Given the description of an element on the screen output the (x, y) to click on. 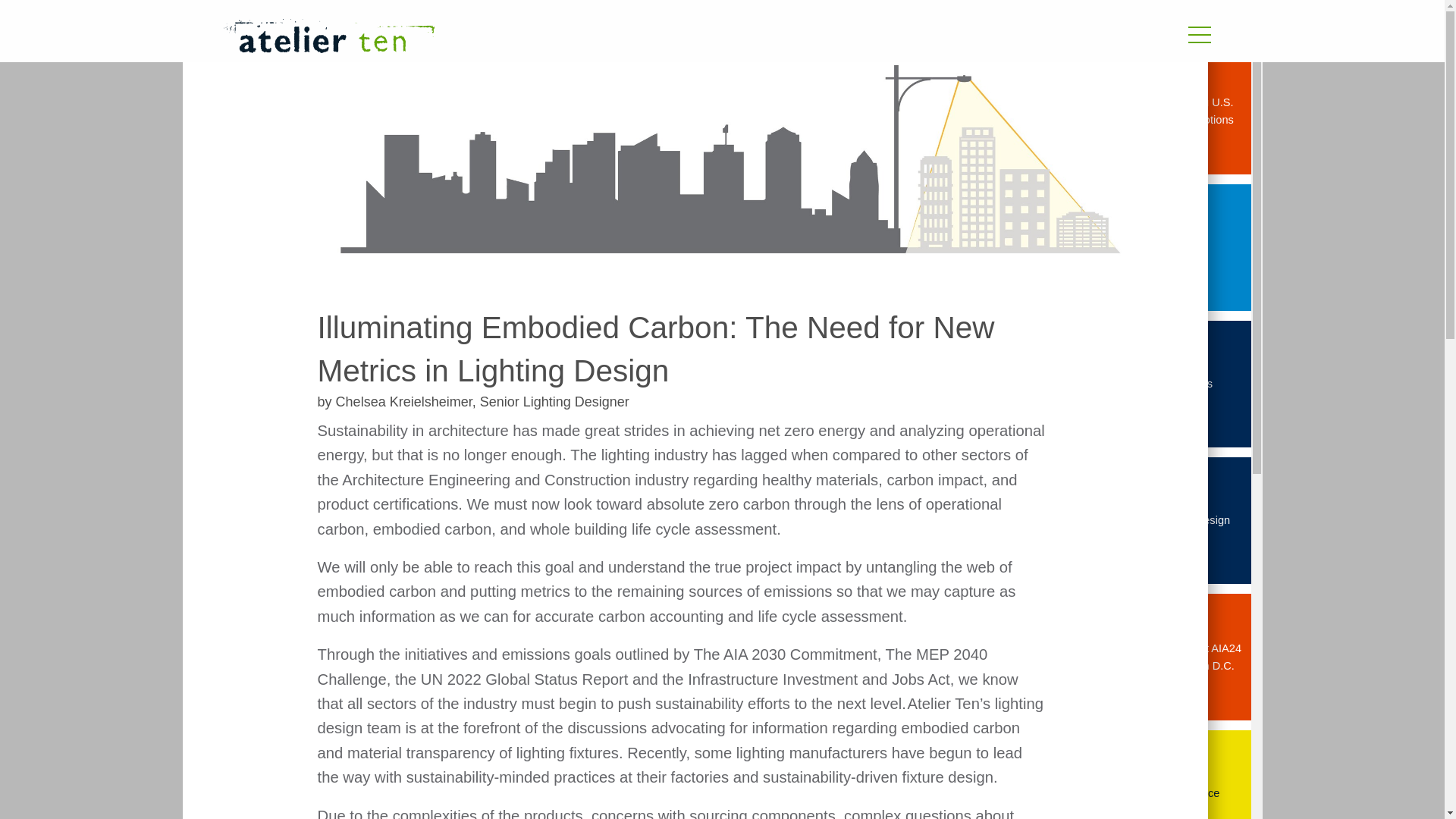
Click to go to the Atelier Ten homepage (536, 38)
logo (536, 38)
logo (327, 35)
